Given the description of an element on the screen output the (x, y) to click on. 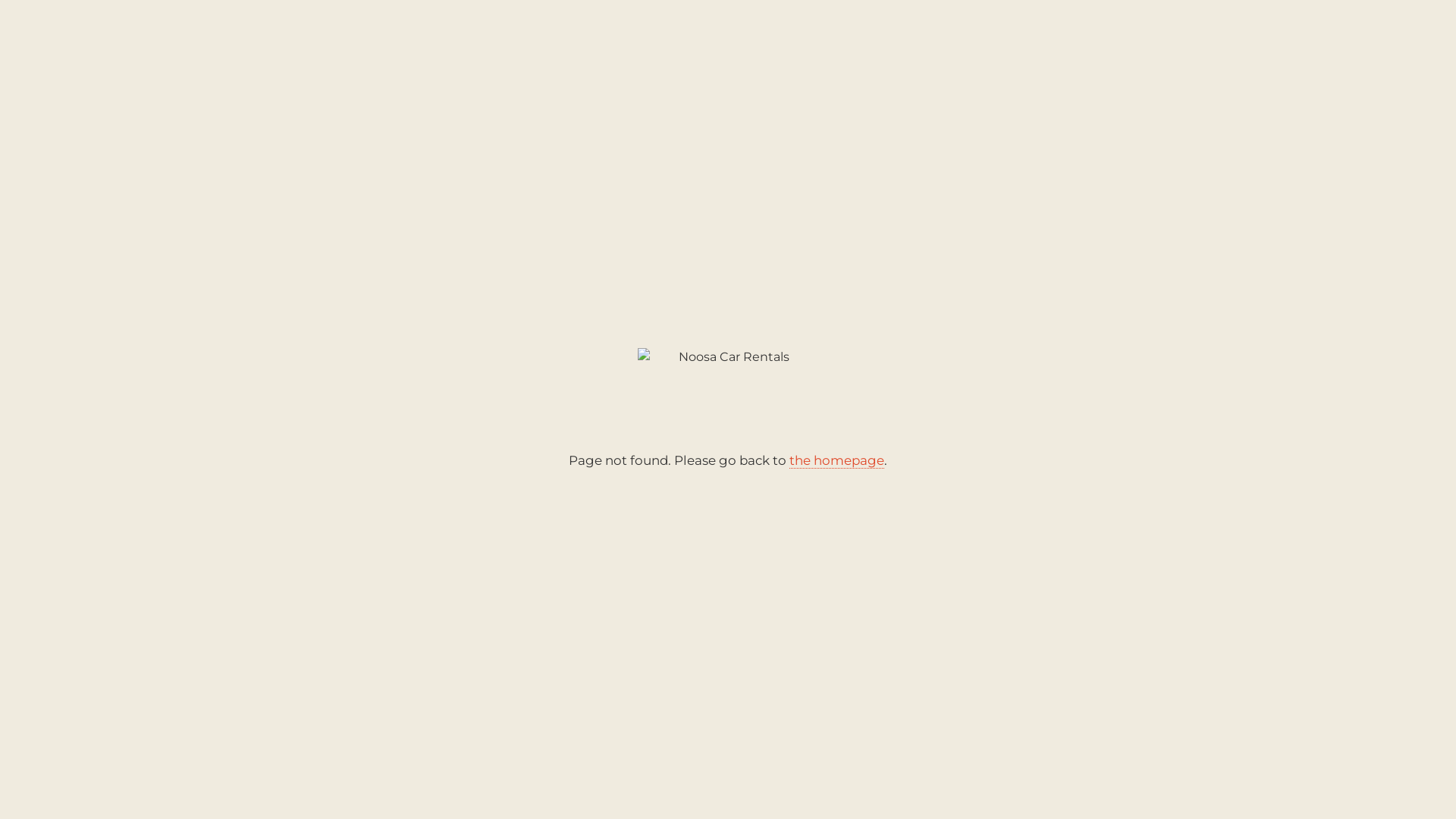
the homepage Element type: text (836, 460)
